Given the description of an element on the screen output the (x, y) to click on. 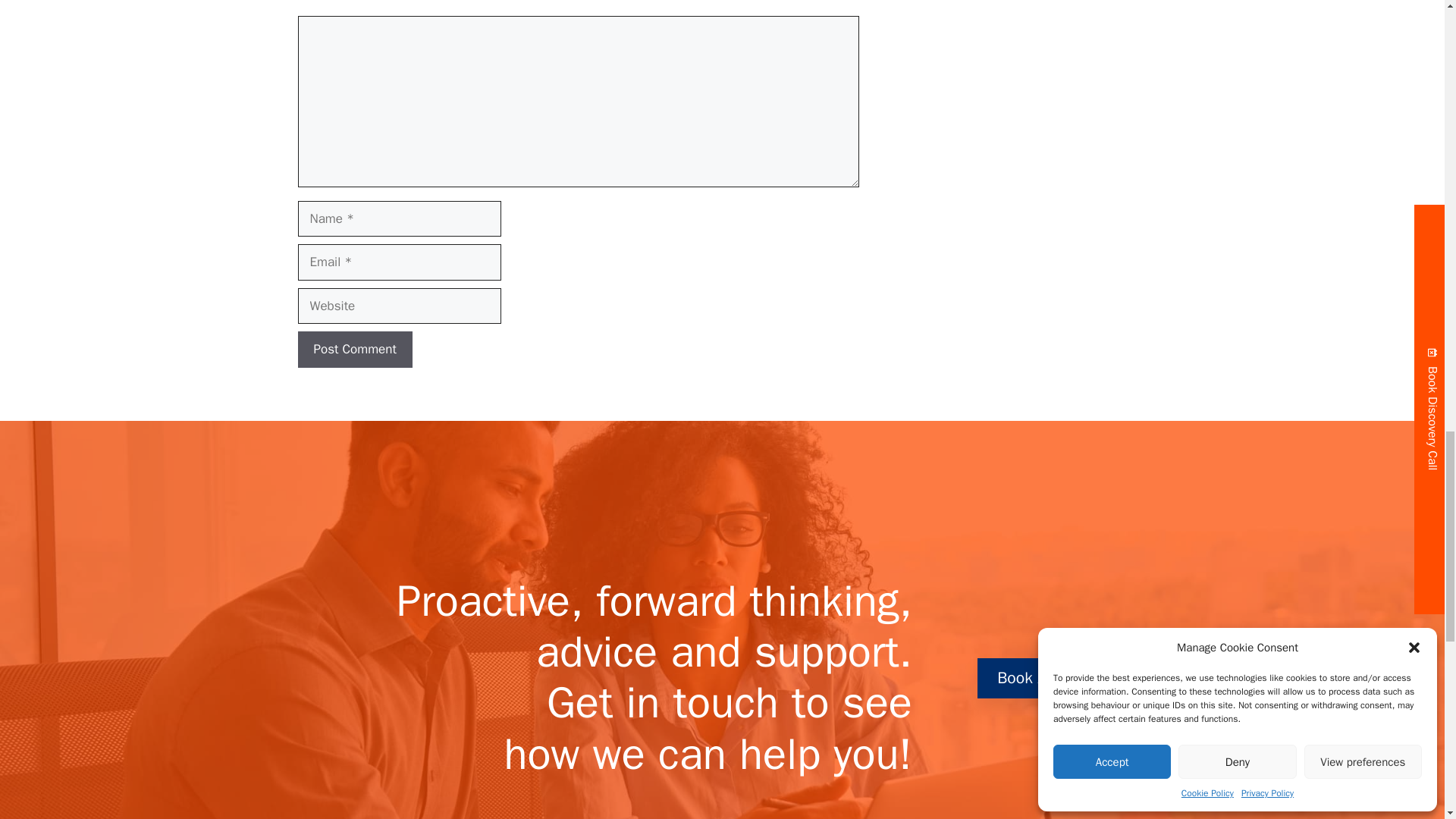
Post Comment (354, 349)
